Given the description of an element on the screen output the (x, y) to click on. 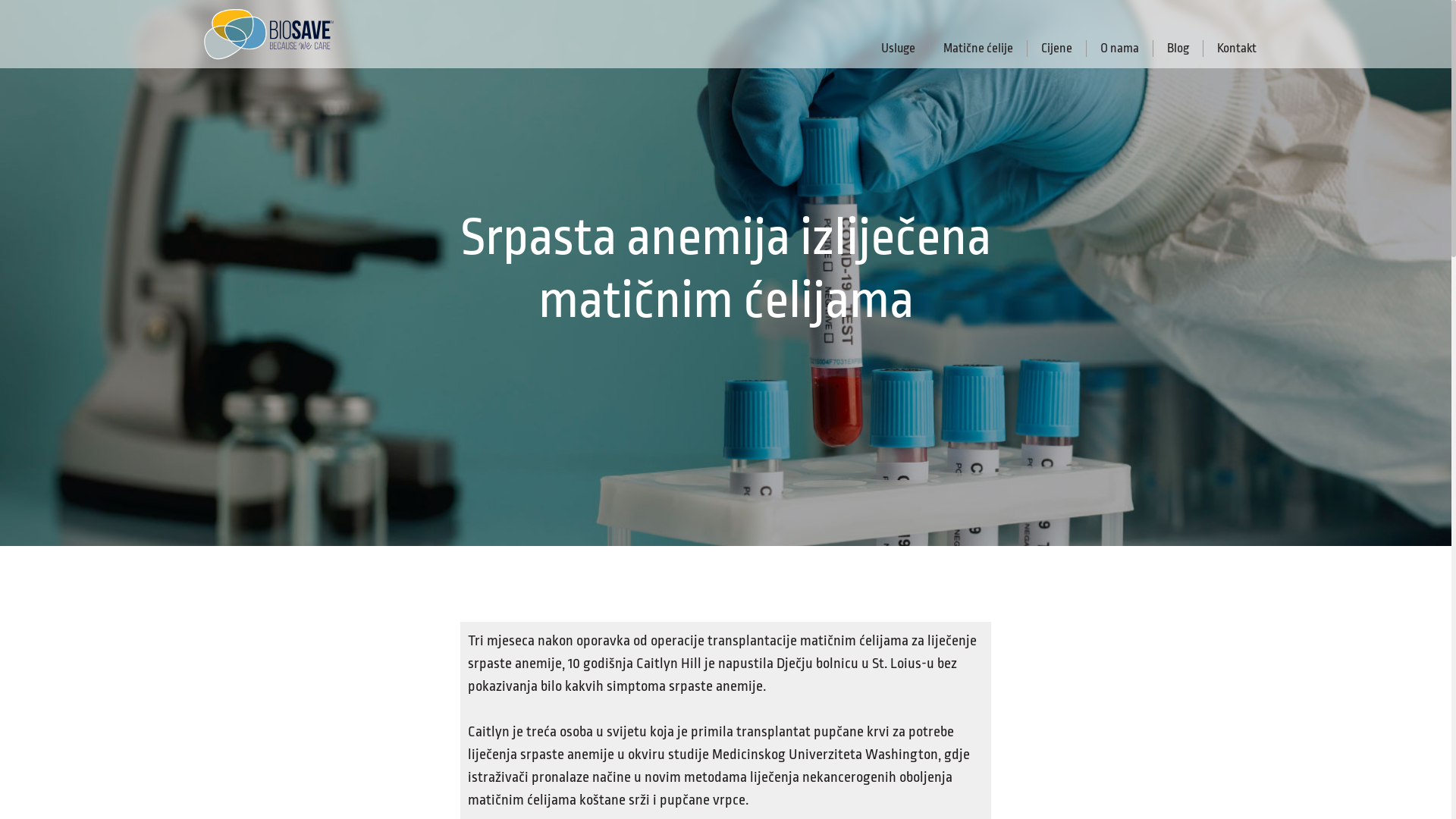
Usluge Element type: text (898, 48)
O nama Element type: text (1119, 48)
Cijene Element type: text (1056, 48)
Kontakt Element type: text (1229, 48)
Blog Element type: text (1178, 48)
